Given the description of an element on the screen output the (x, y) to click on. 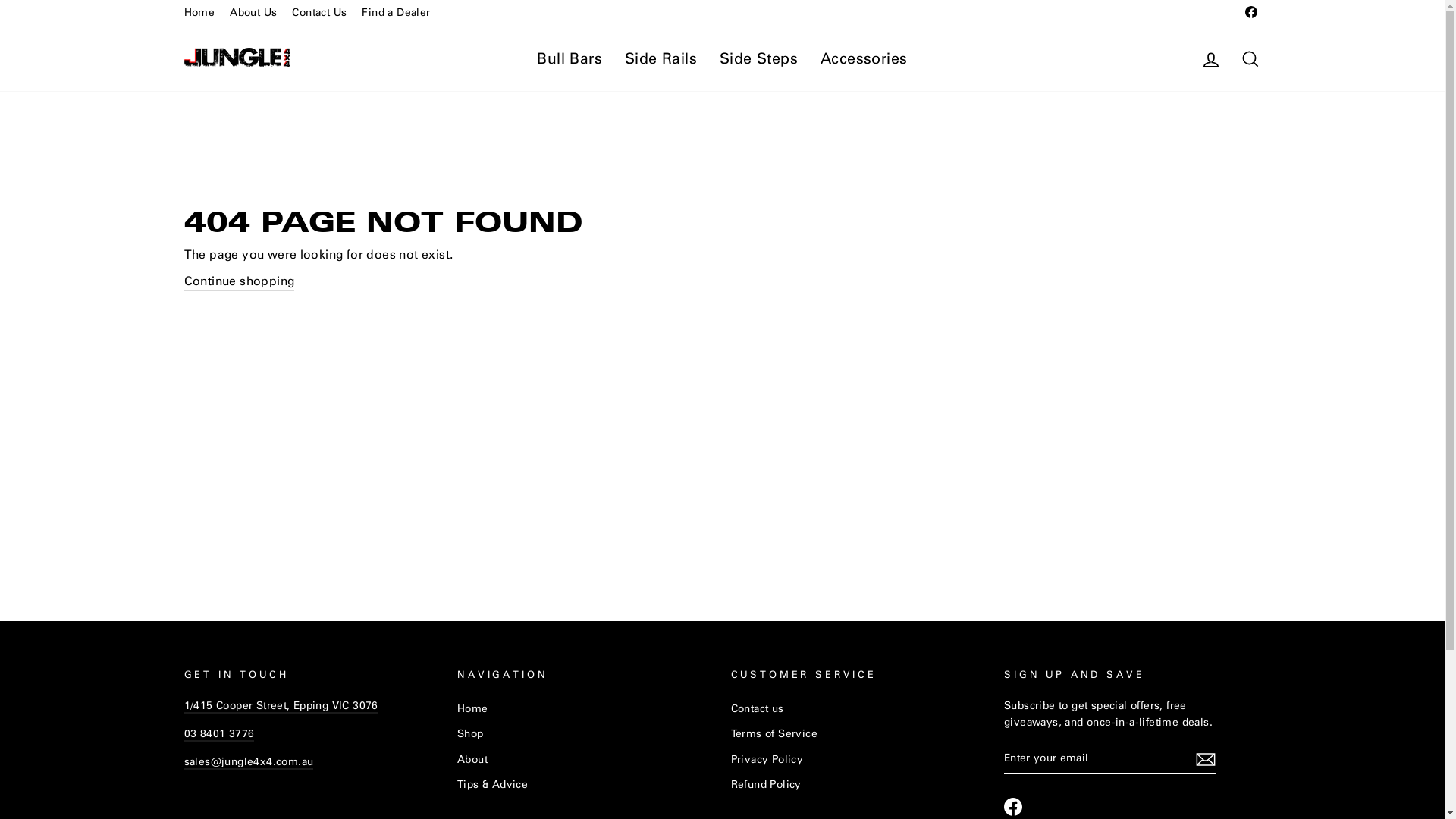
Shop Element type: text (470, 732)
Bull Bars Element type: text (569, 57)
Continue shopping Element type: text (238, 280)
Privacy Policy Element type: text (767, 758)
Search Element type: text (1249, 57)
Side Steps Element type: text (758, 57)
Home Element type: text (472, 707)
Accessories Element type: text (863, 57)
Skip to content Element type: text (0, 0)
03 8401 3776 Element type: text (218, 733)
sales@jungle4x4.com.au Element type: text (248, 761)
Log in Element type: text (1210, 57)
Contact Us Element type: text (319, 12)
Facebook Element type: text (1250, 12)
About Us Element type: text (253, 12)
Side Rails Element type: text (660, 57)
Tips & Advice Element type: text (492, 783)
Terms of Service Element type: text (774, 732)
Facebook Element type: text (1013, 806)
Refund Policy Element type: text (766, 783)
1/415 Cooper Street, Epping VIC 3076 Element type: text (280, 705)
Contact us Element type: text (757, 707)
Find a Dealer Element type: text (395, 12)
About Element type: text (472, 758)
Home Element type: text (198, 12)
